Given the description of an element on the screen output the (x, y) to click on. 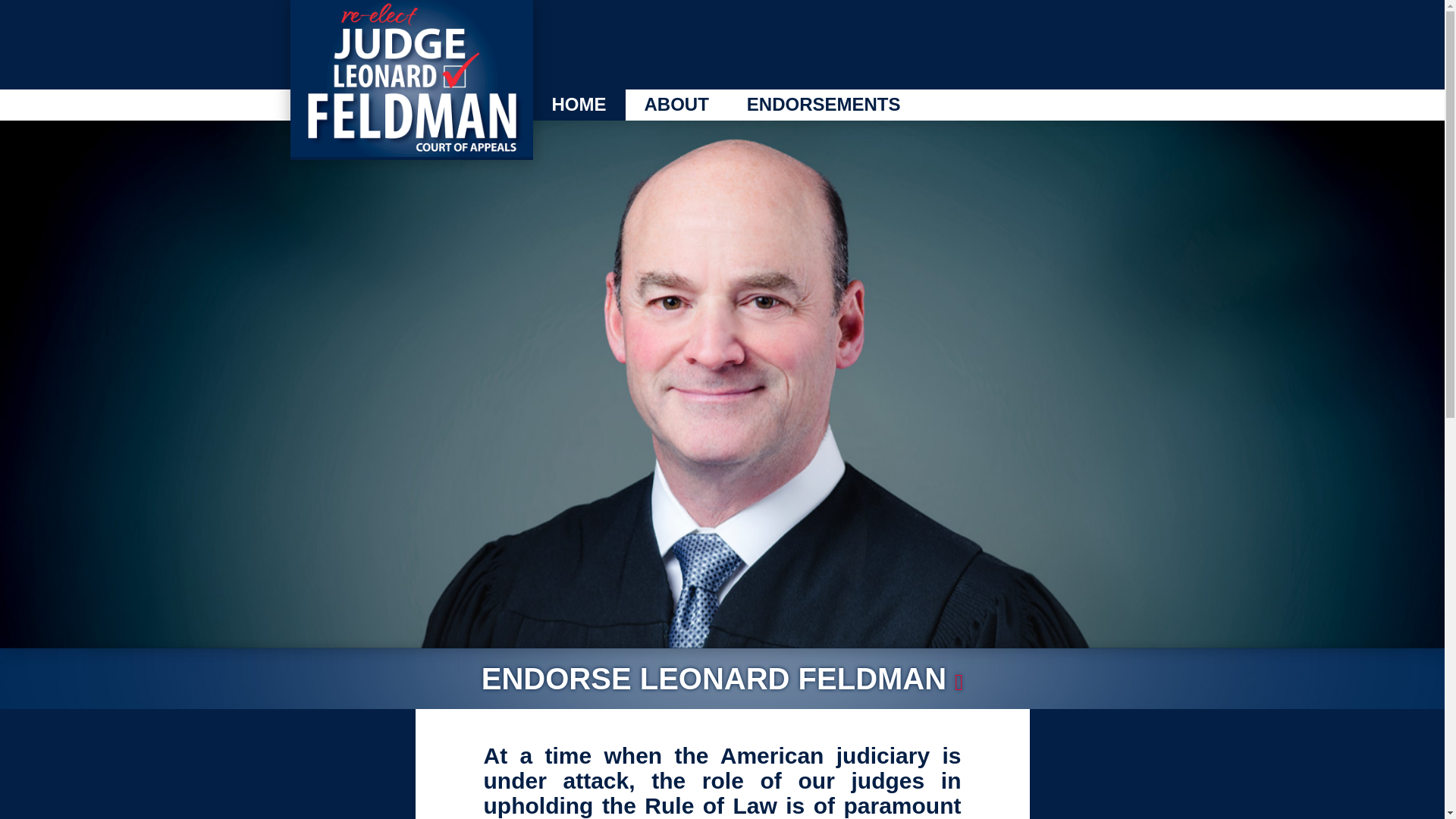
Home (578, 104)
Endorsements (824, 104)
ABOUT (675, 104)
ENDORSEMENTS (824, 104)
HOME (578, 104)
About (675, 104)
